Given the description of an element on the screen output the (x, y) to click on. 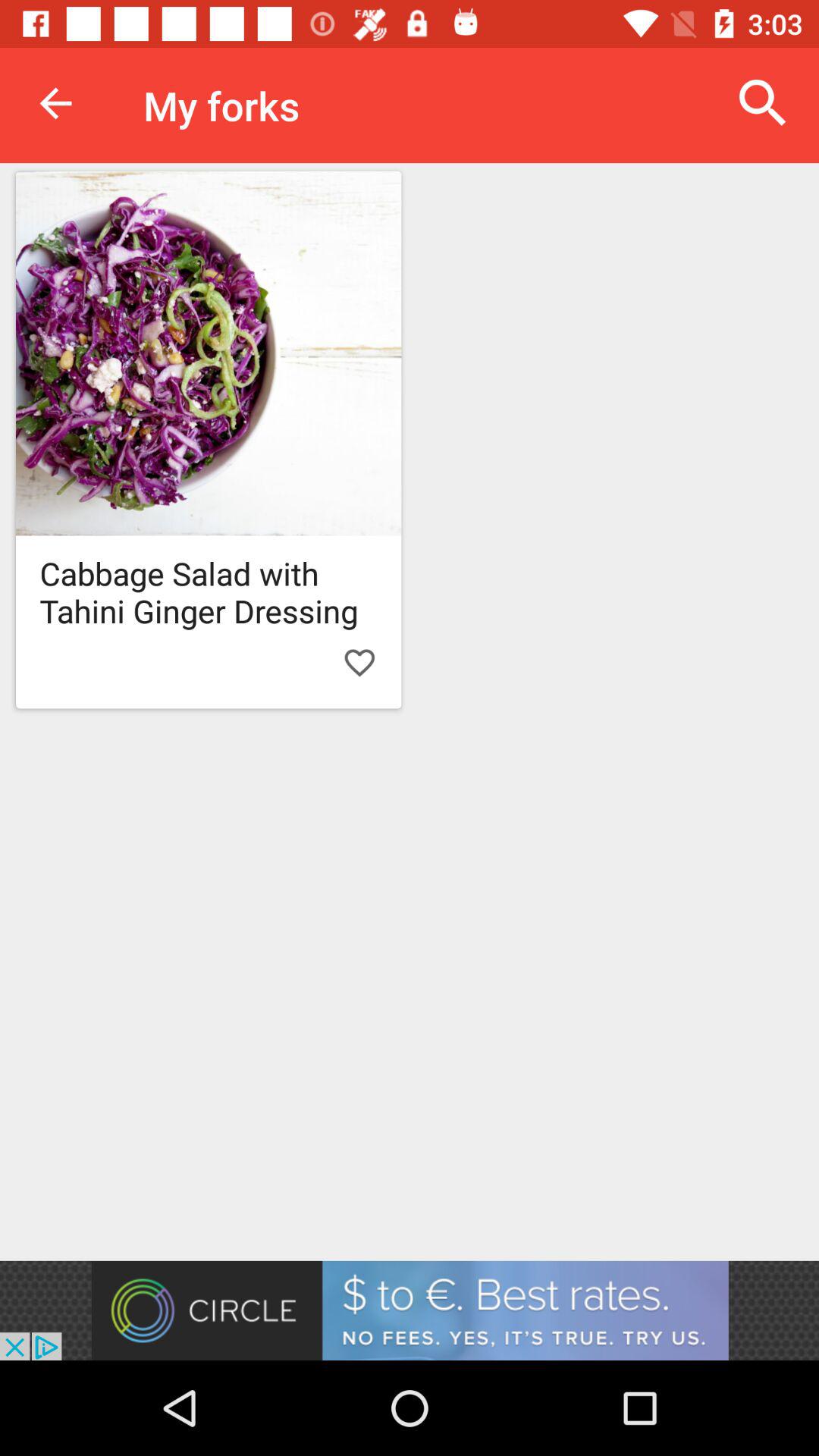
adverts (409, 1310)
